Given the description of an element on the screen output the (x, y) to click on. 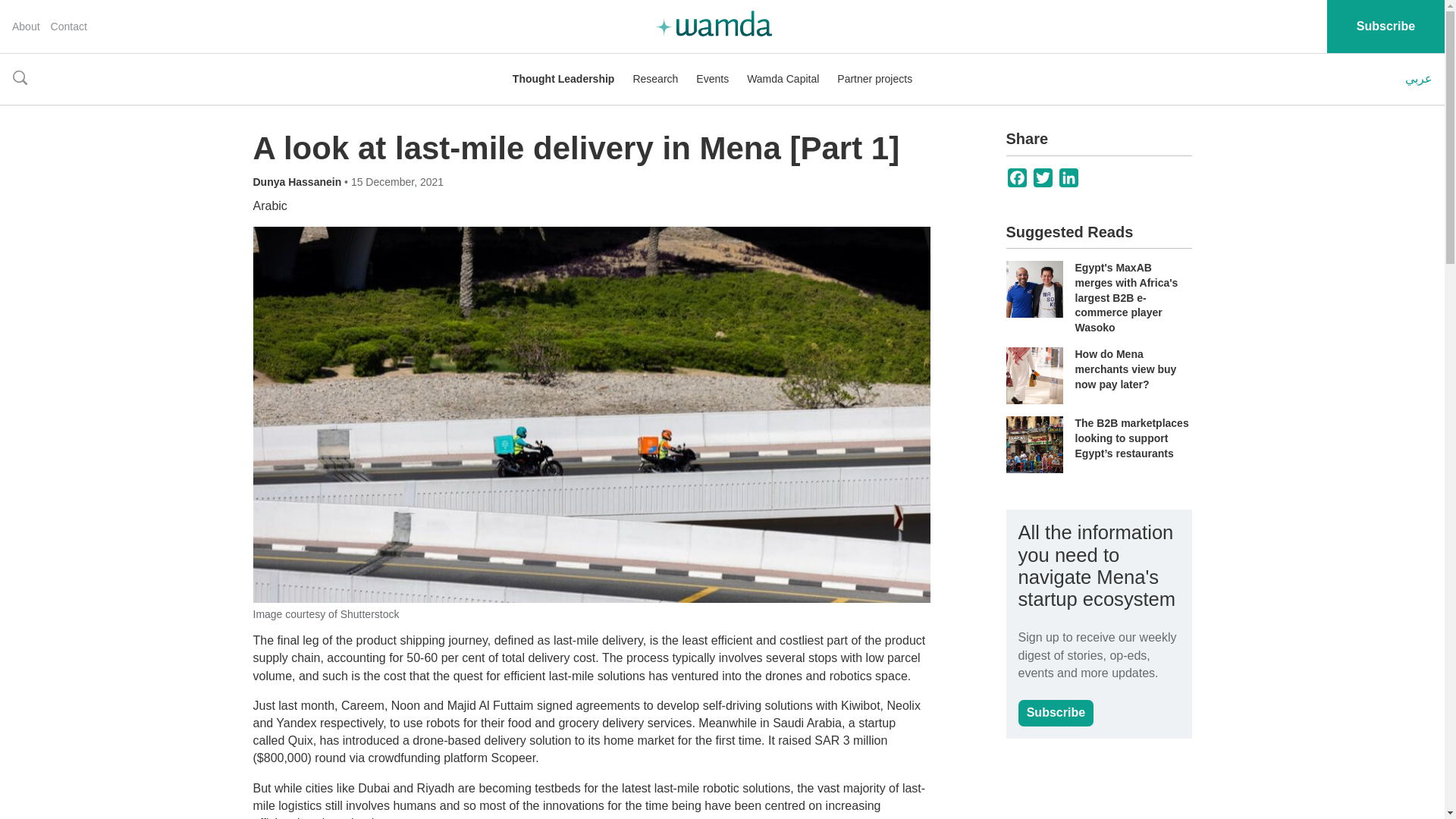
Twitter (1043, 177)
Contact (68, 26)
Research (654, 79)
Partner projects (874, 79)
LinkedIn (1070, 177)
Facebook (1018, 177)
Subscribe (1055, 713)
Wamda Capital (782, 79)
Dunya Hassanein (299, 182)
